Given the description of an element on the screen output the (x, y) to click on. 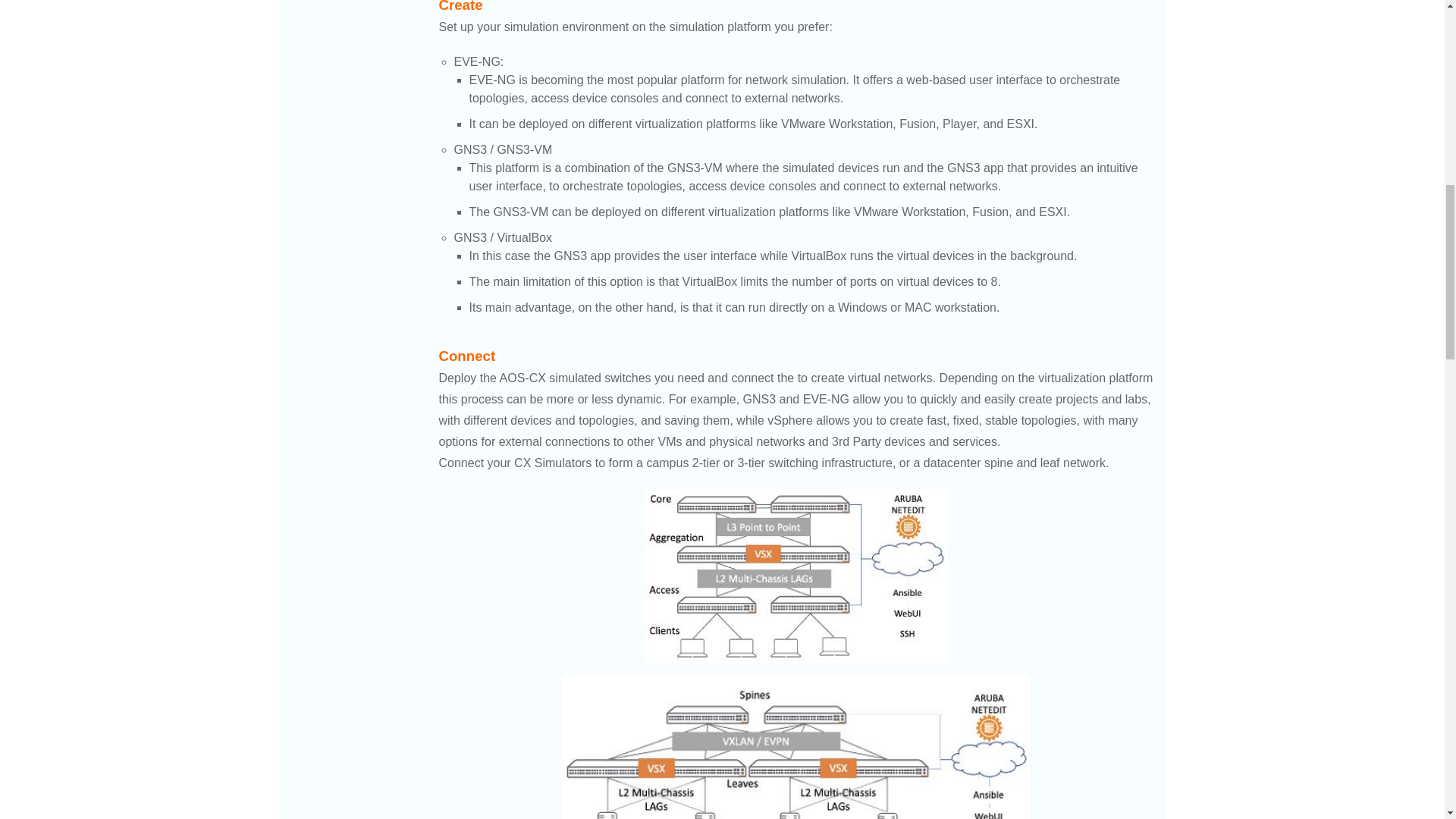
Campus LAN Example (796, 575)
Datacenter Network Exmaple (795, 746)
